Given the description of an element on the screen output the (x, y) to click on. 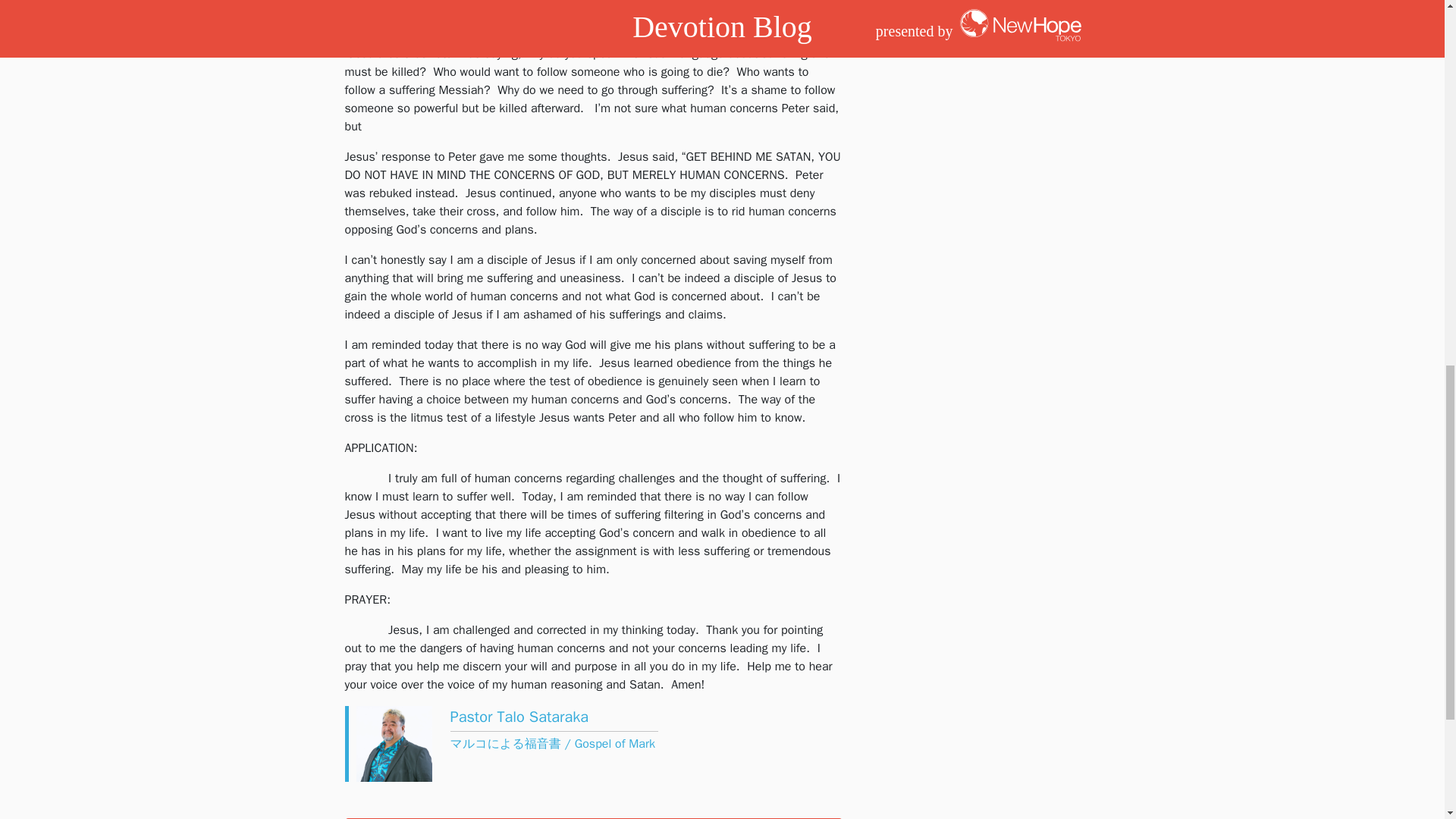
Pastor Talo Sataraka (519, 716)
